Given the description of an element on the screen output the (x, y) to click on. 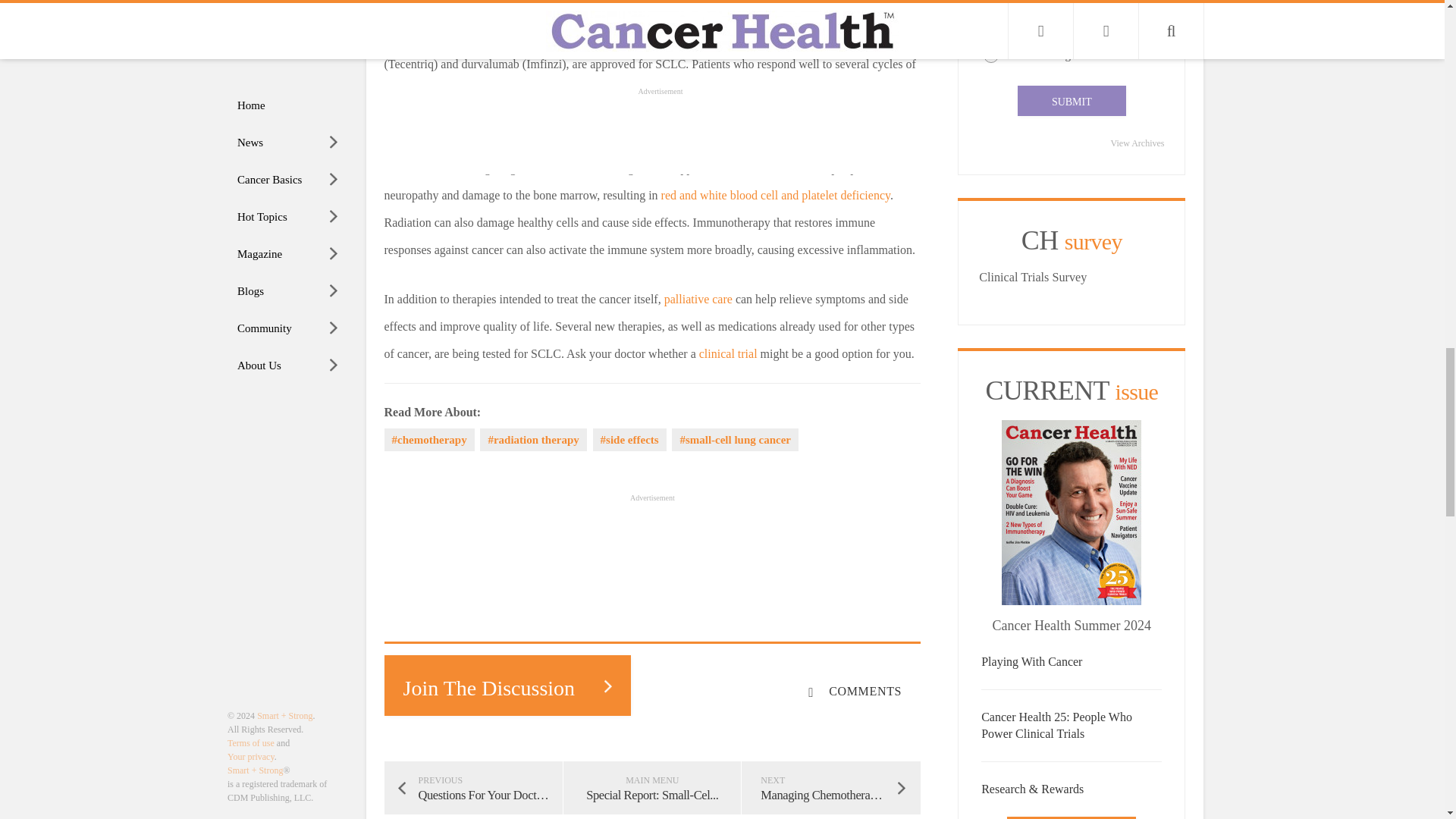
3rd party ad content (660, 539)
